Given the description of an element on the screen output the (x, y) to click on. 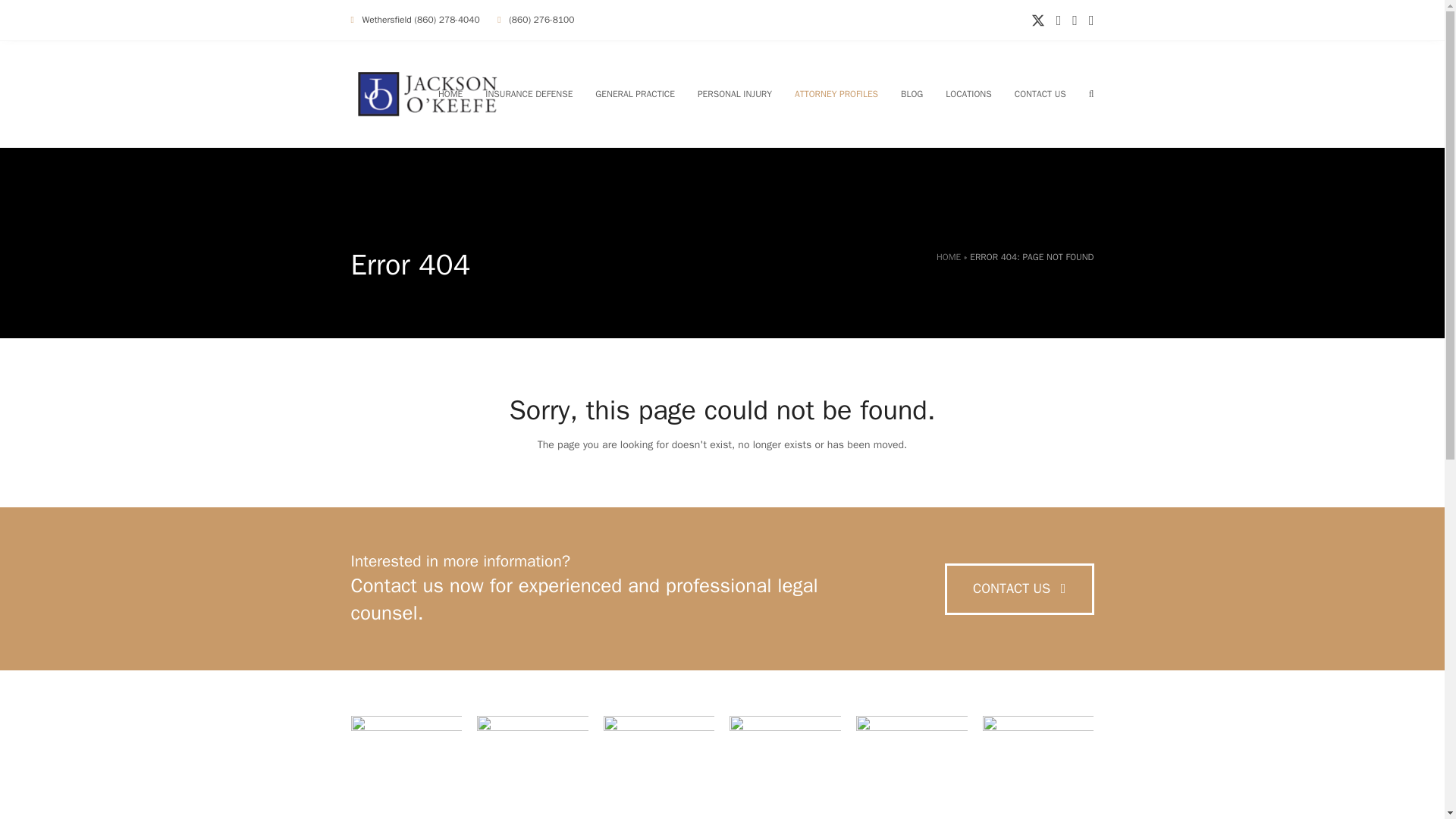
INSURANCE DEFENSE (528, 94)
HOME (450, 94)
Wethersfield (385, 19)
GENERAL PRACTICE (634, 94)
PERSONAL INJURY (734, 94)
ATTORNEY PROFILES (836, 94)
